Given the description of an element on the screen output the (x, y) to click on. 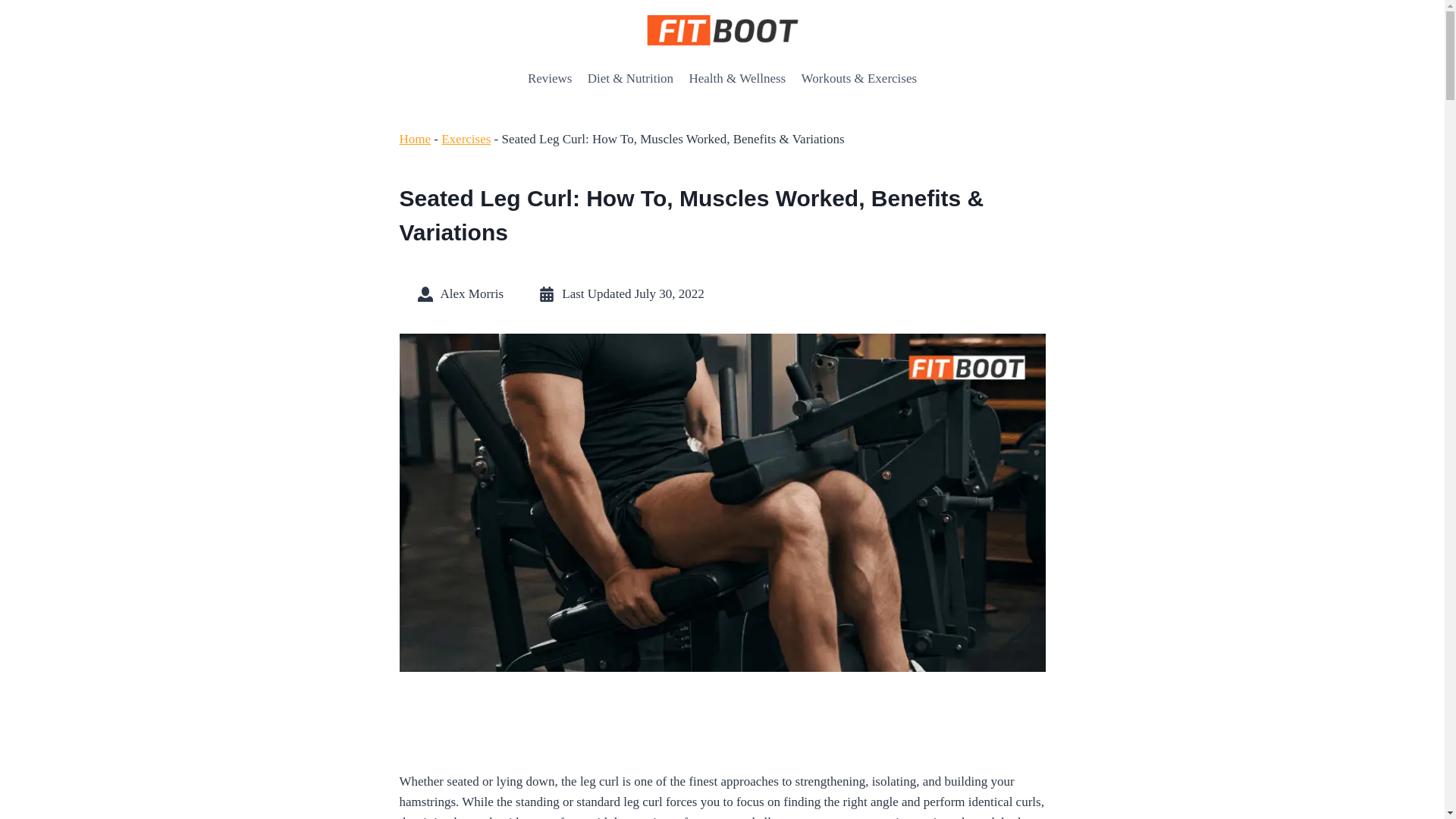
Exercises (465, 138)
Home (414, 138)
Reviews (549, 78)
